Given the description of an element on the screen output the (x, y) to click on. 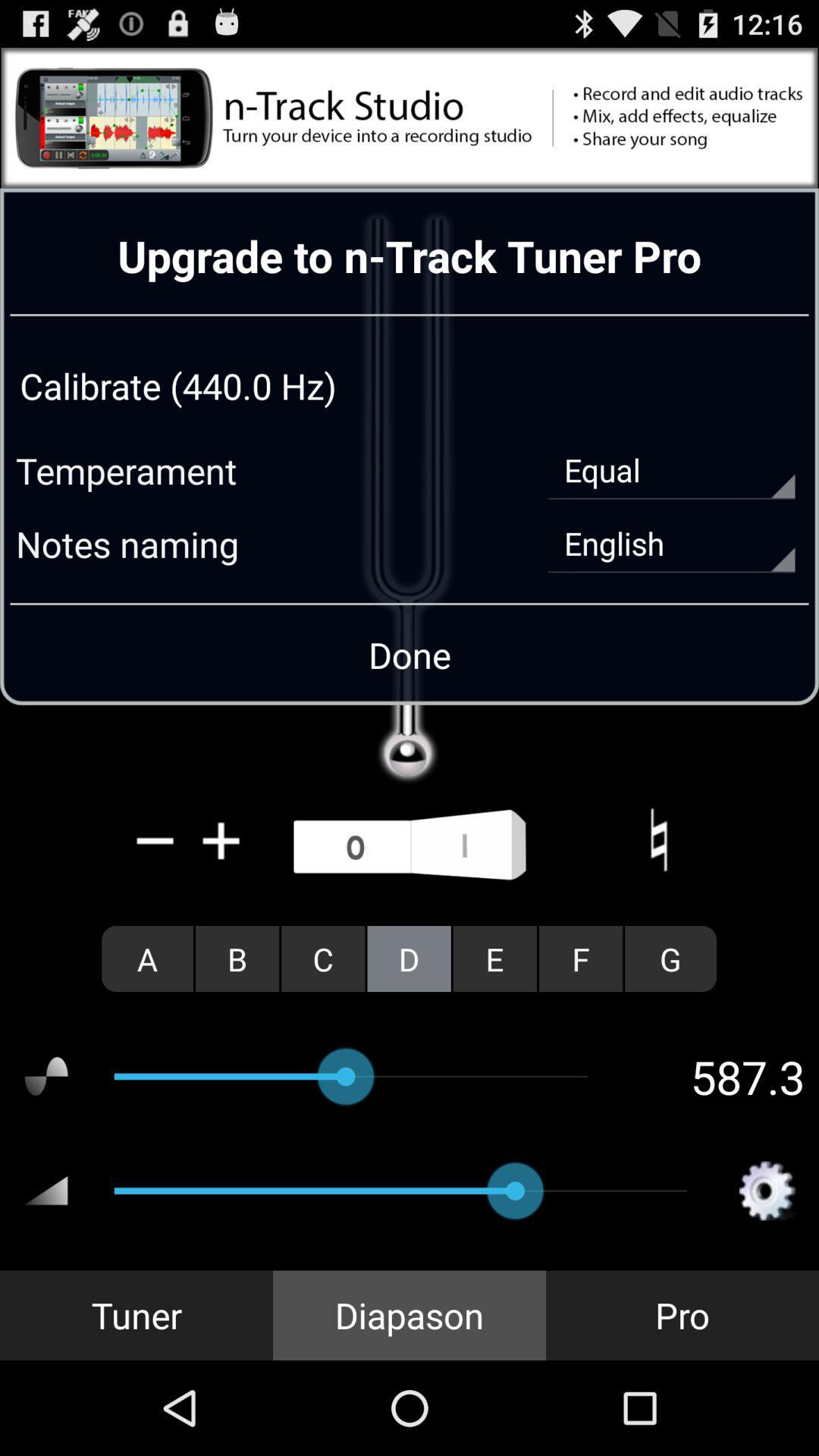
launch the radio button above the c (409, 846)
